Given the description of an element on the screen output the (x, y) to click on. 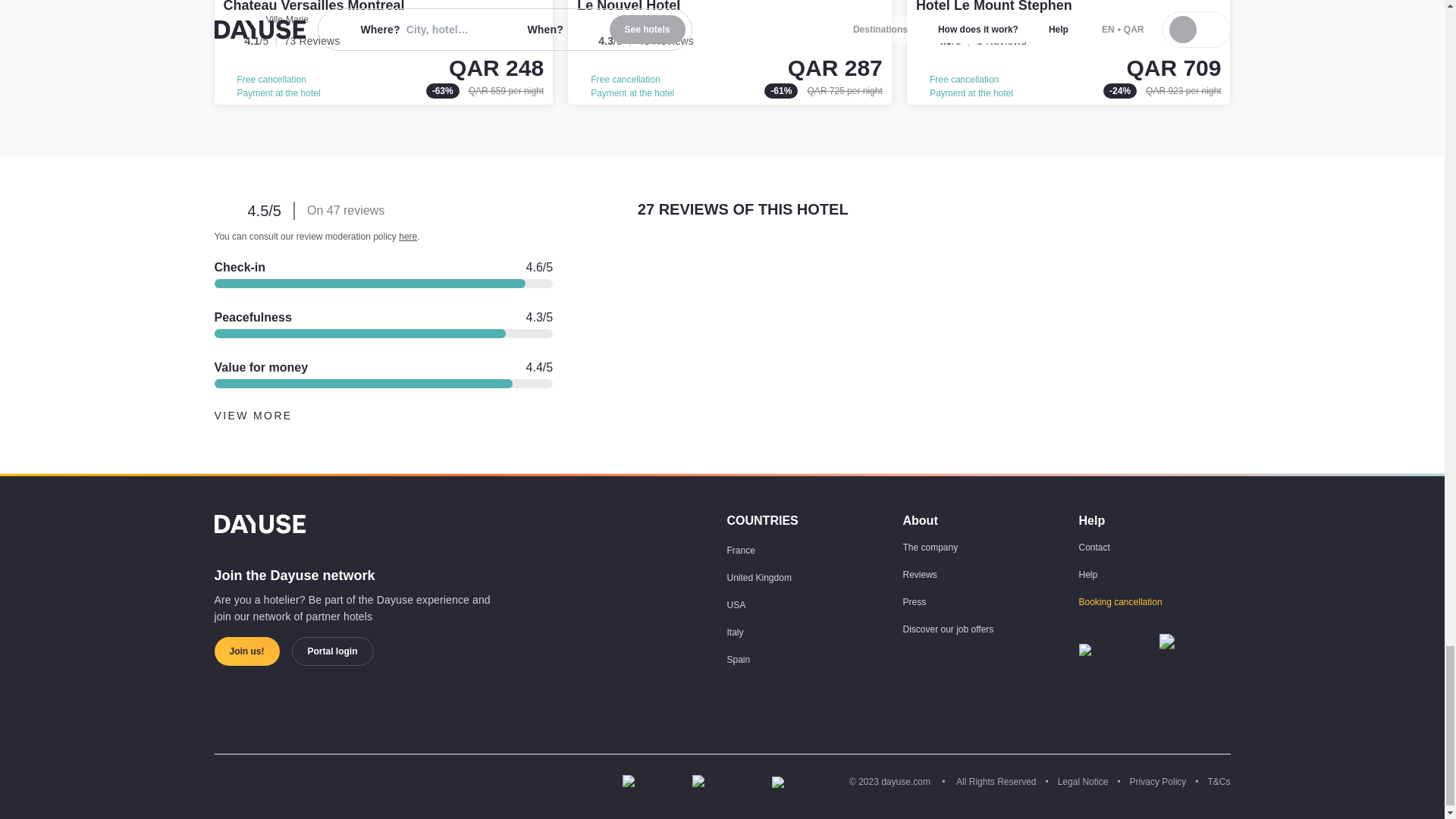
Chateau Versailles Montreal (313, 6)
Chateau Versailles Montreal (383, 52)
Le Nouvel Hotel (627, 6)
Hotel Le Mount Stephen (993, 6)
Hotel Le Mount Stephen (1068, 52)
Le Nouvel Hotel (729, 52)
